Given the description of an element on the screen output the (x, y) to click on. 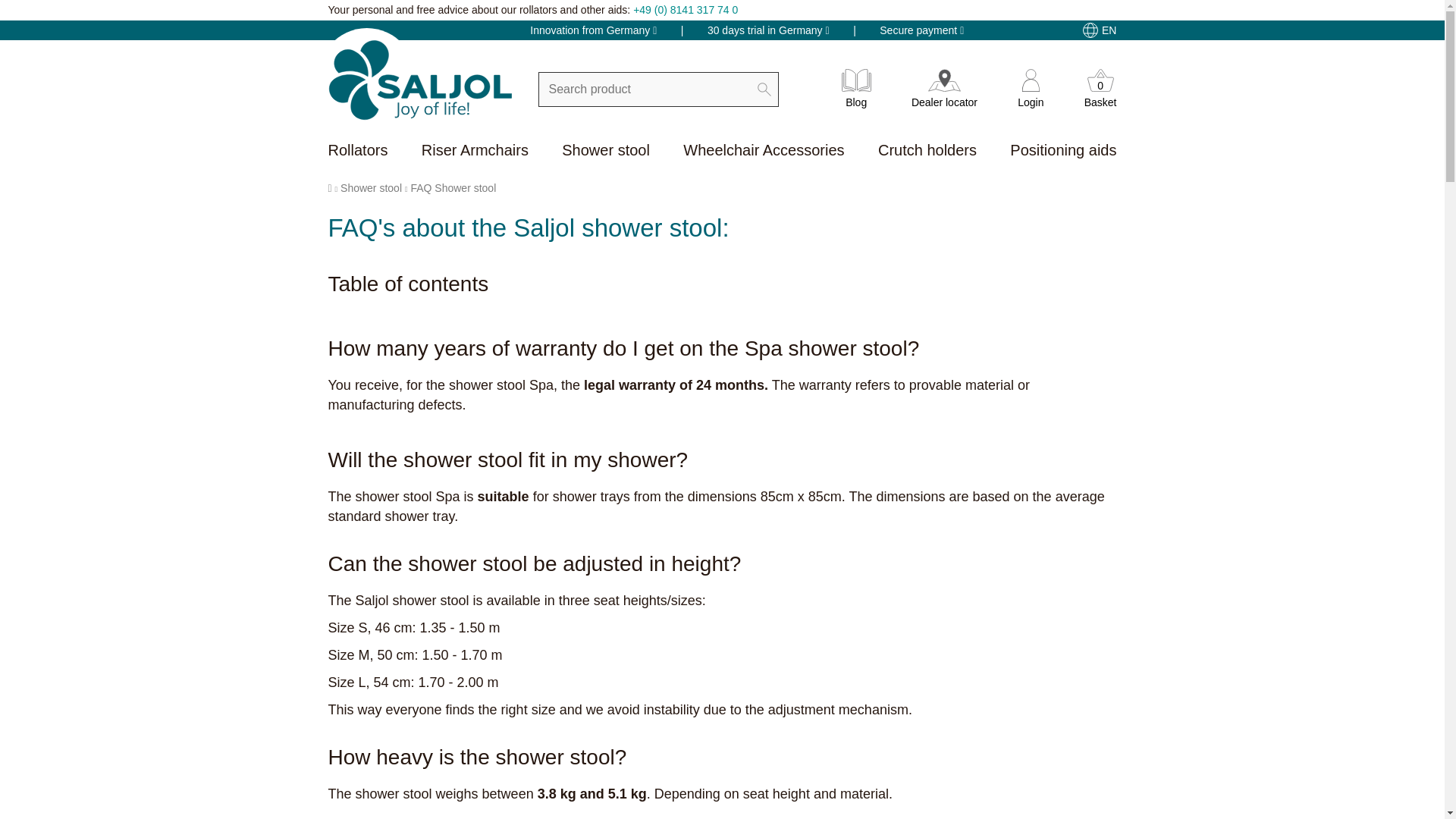
Crutch holders (926, 151)
Rollators (357, 151)
Positioning aids (1063, 151)
Blog (855, 95)
FAQ Shower stool (453, 187)
Shower stool (375, 187)
Login (1030, 95)
Wheelchair Accessories (763, 151)
Riser Armchairs (475, 151)
Shower stool (605, 151)
Dealer locator (943, 95)
